Given the description of an element on the screen output the (x, y) to click on. 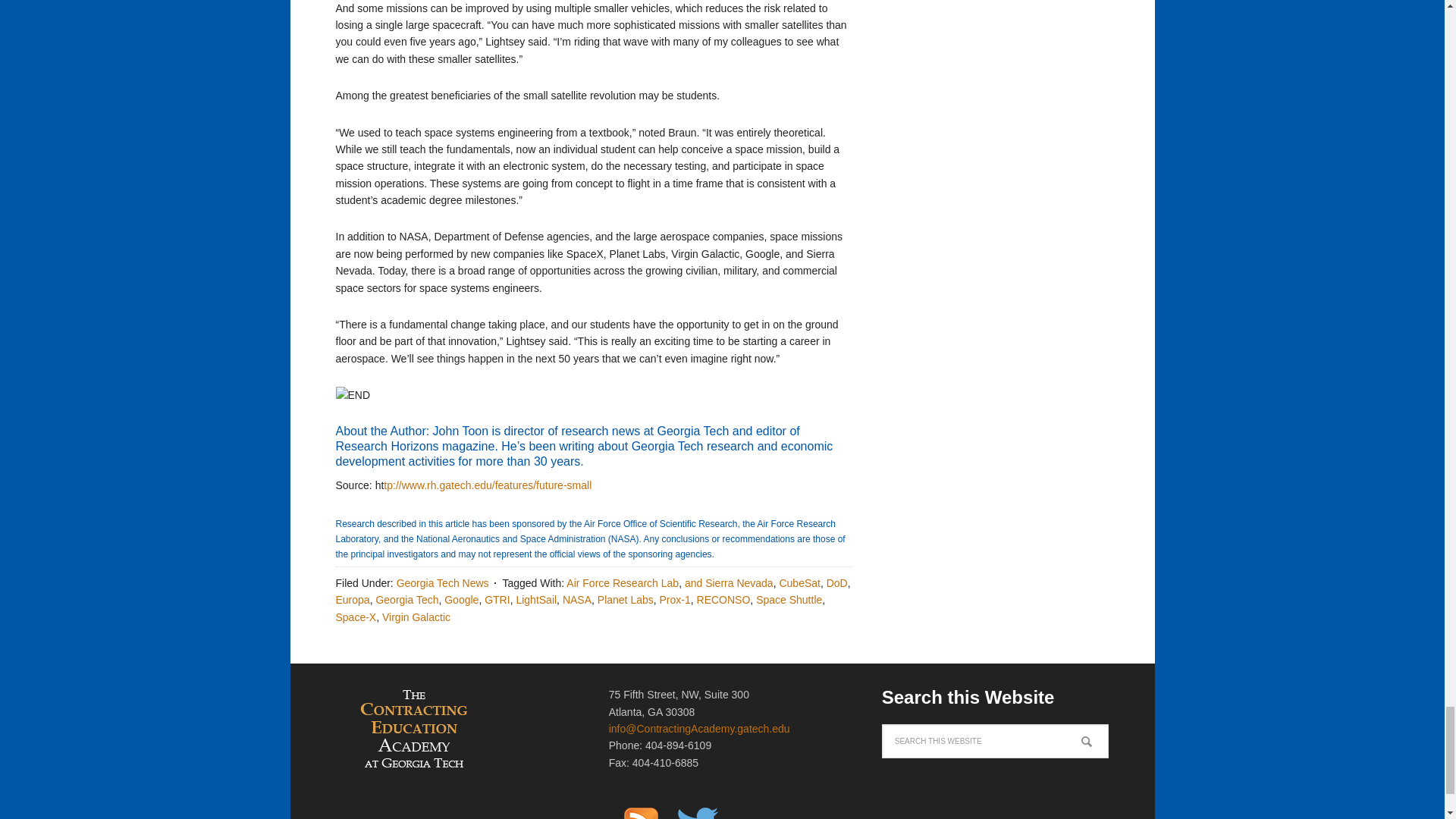
Space Shuttle (788, 599)
Europa (351, 599)
NASA (576, 599)
RECONSO (724, 599)
and Sierra Nevada (728, 582)
Prox-1 (674, 599)
Georgia Tech (406, 599)
Planet Labs (624, 599)
Air Force Research Lab (622, 582)
Georgia Tech News (442, 582)
Space-X (354, 616)
LightSail (535, 599)
CubeSat (798, 582)
